Given the description of an element on the screen output the (x, y) to click on. 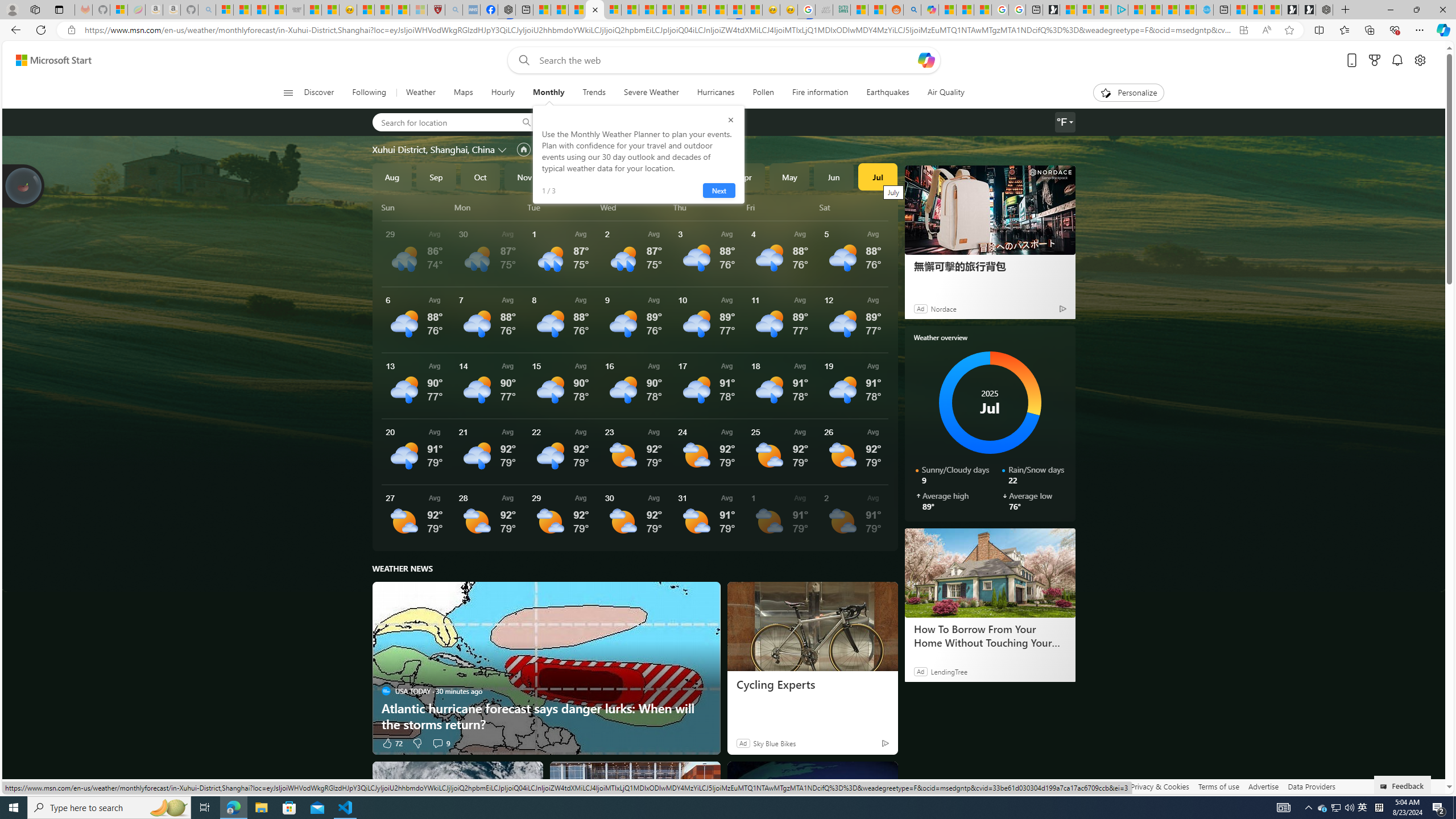
Microsoft account | Privacy (1102, 9)
Web search (520, 60)
Mar (700, 176)
Sun (416, 207)
Remove location (653, 122)
View comments 9 Comment (437, 743)
AutomationID: donut-chart-monthly (990, 402)
See More Details (853, 517)
